Given the description of an element on the screen output the (x, y) to click on. 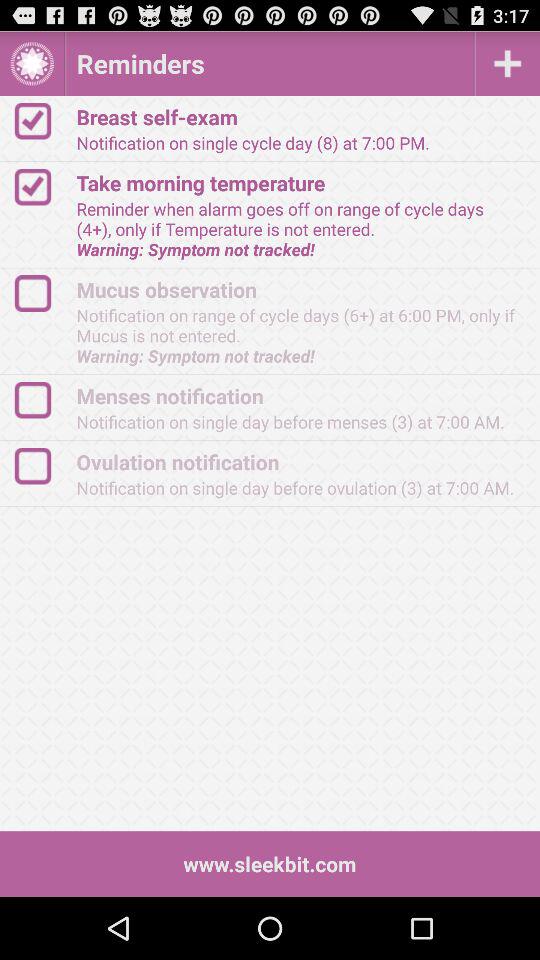
mucus observation option (41, 293)
